Given the description of an element on the screen output the (x, y) to click on. 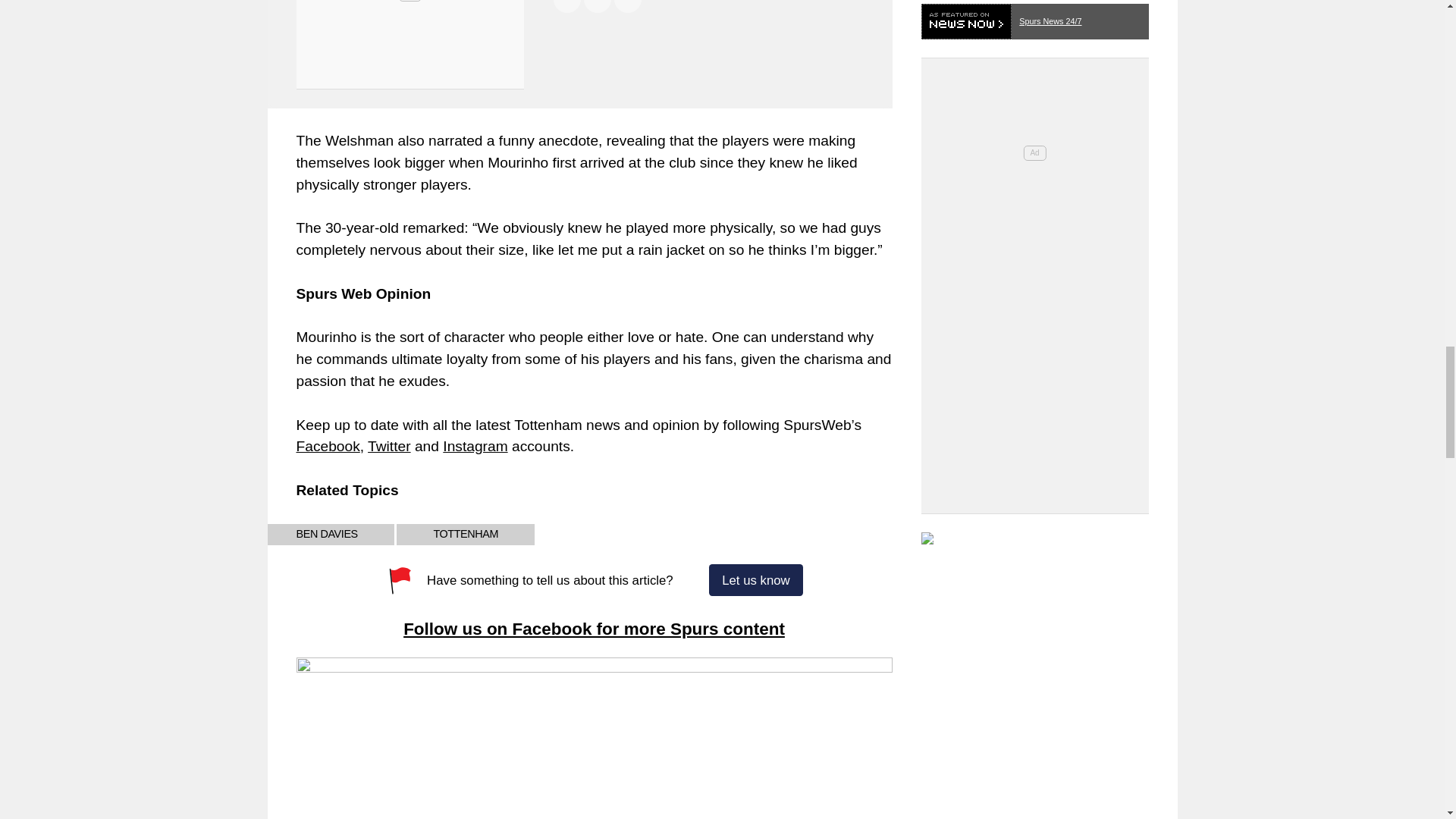
BEN DAVIES (326, 534)
Facebook (327, 446)
Twitter (389, 446)
Instagram (474, 446)
TOTTENHAM (465, 534)
